Given the description of an element on the screen output the (x, y) to click on. 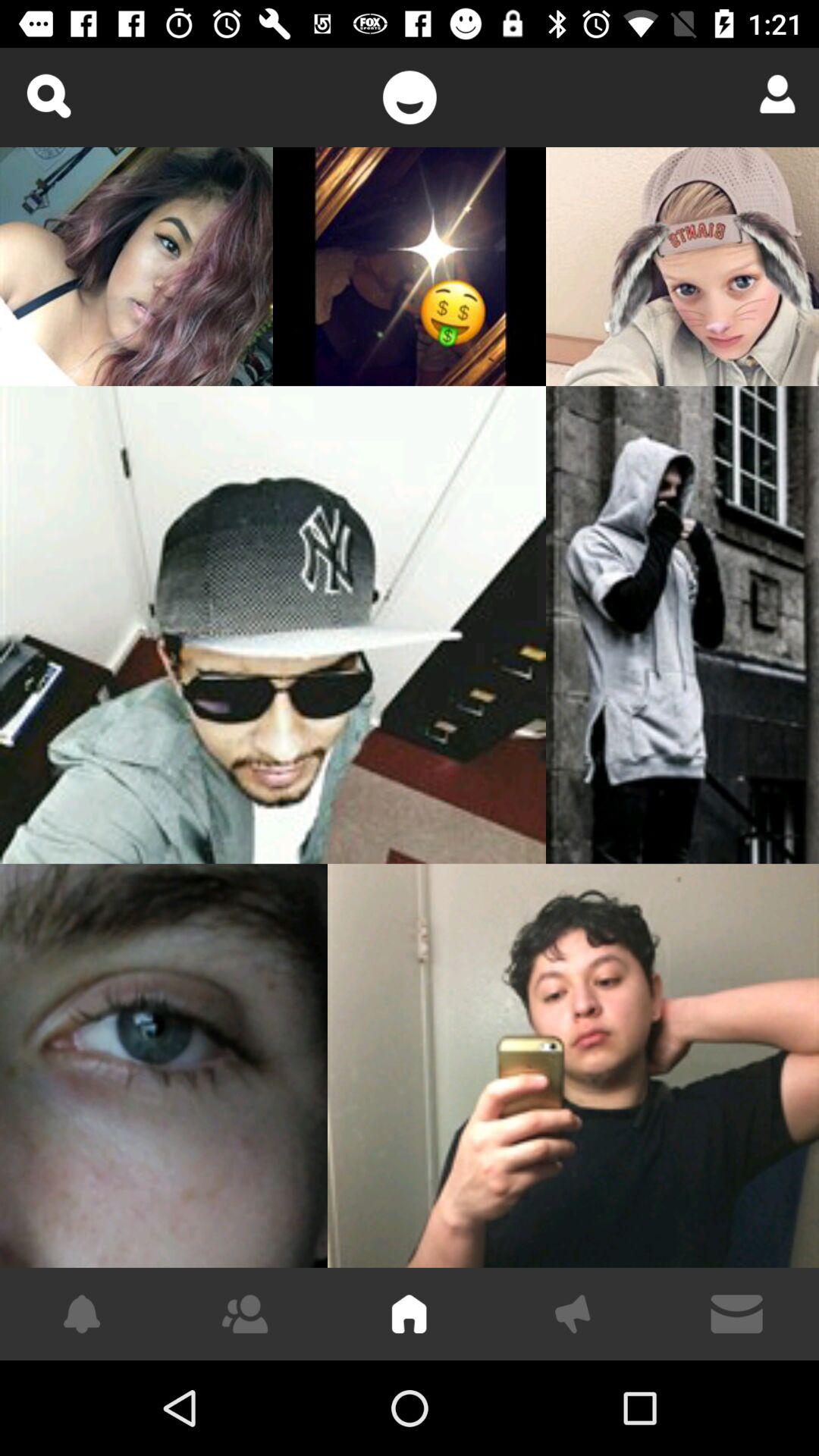
zoom in (48, 95)
